Given the description of an element on the screen output the (x, y) to click on. 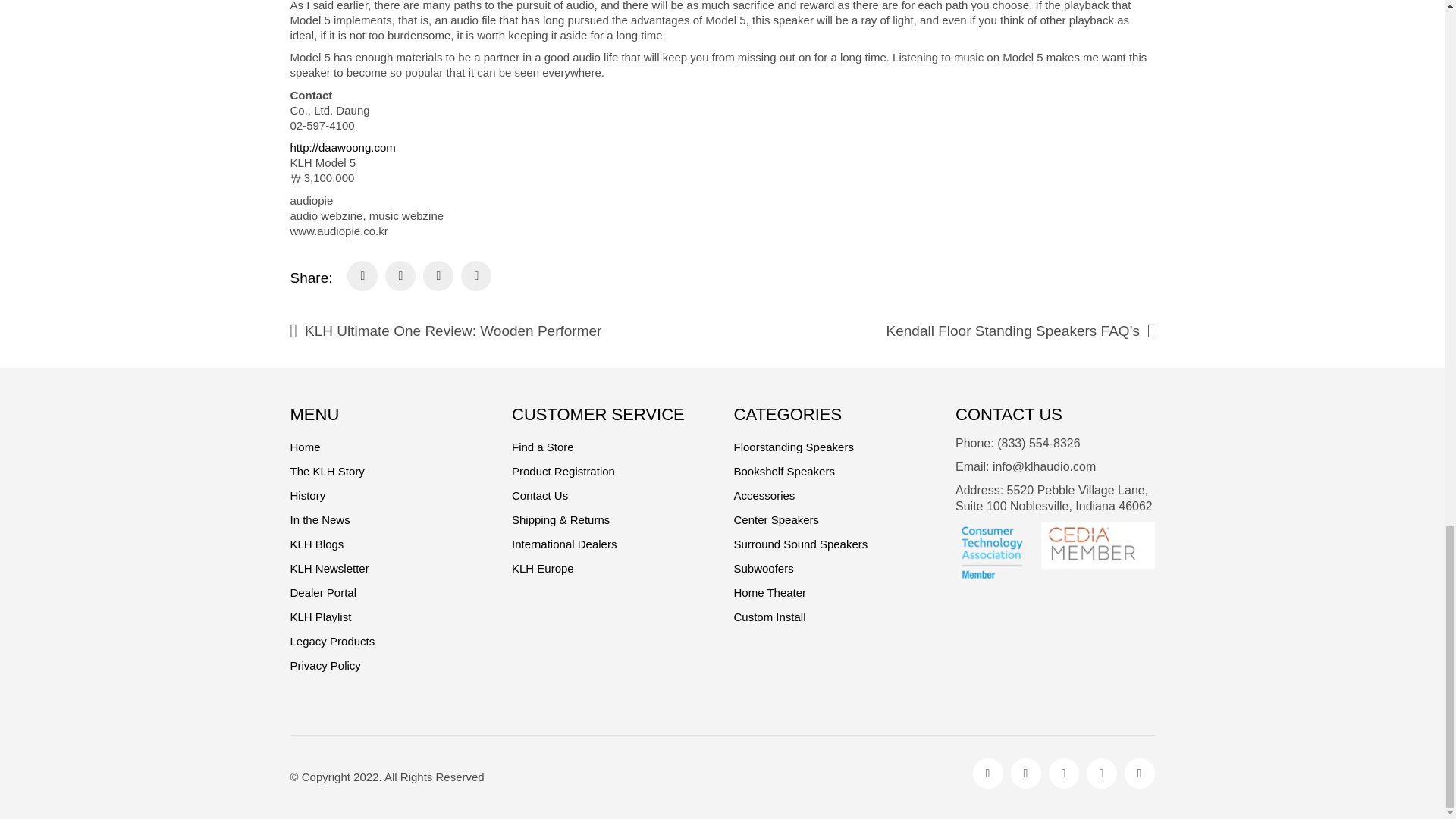
Instagram (1025, 773)
YouTube (1139, 773)
Facebook (987, 773)
Pinterest (1101, 773)
Twitter (1063, 773)
